Given the description of an element on the screen output the (x, y) to click on. 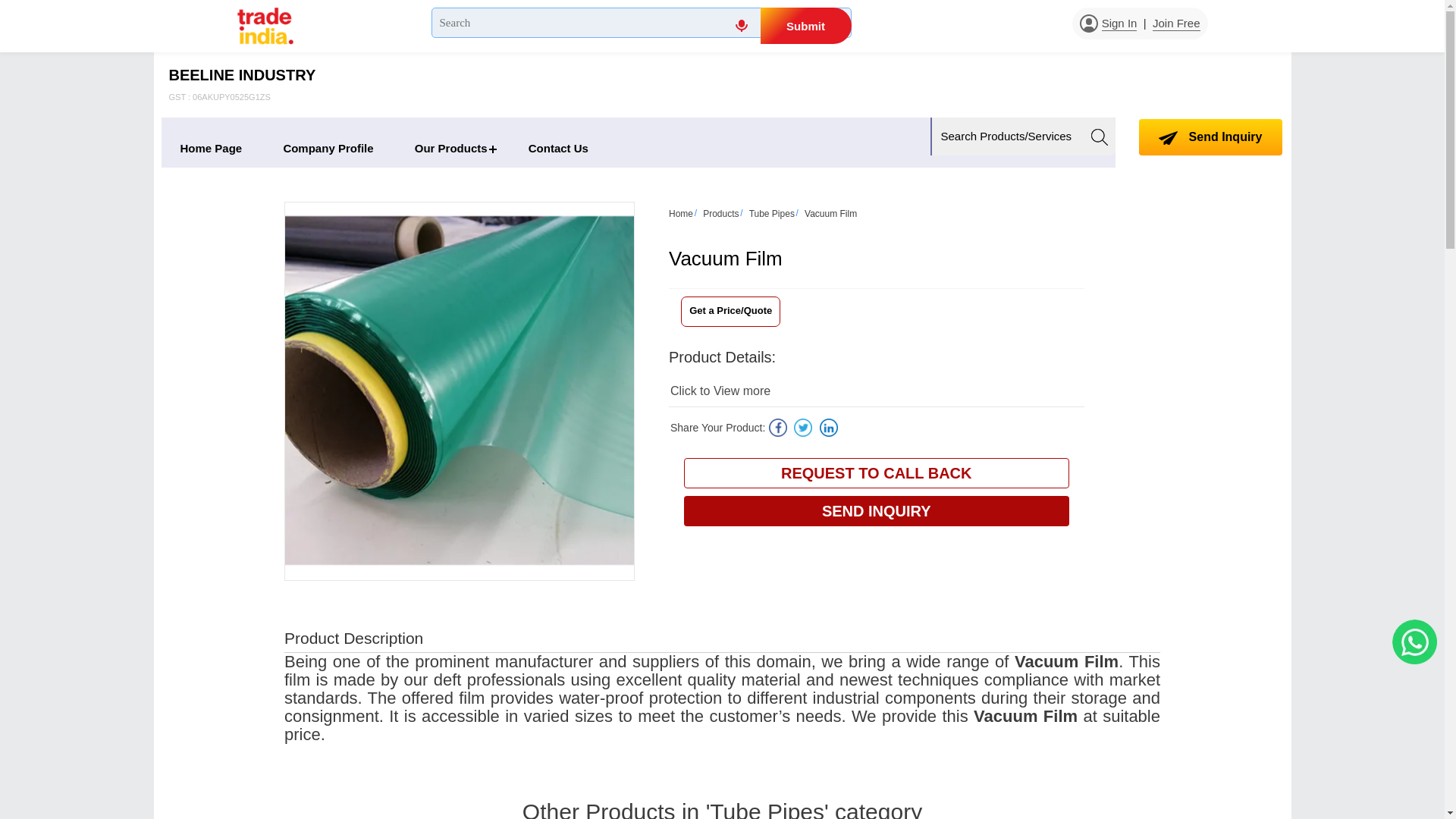
Sign In (1119, 23)
Join Free (1176, 23)
Submit (805, 25)
Home Page (210, 147)
Send Inquiry (1167, 137)
Submit (805, 25)
Our Products (241, 85)
Company Profile (451, 147)
